Given the description of an element on the screen output the (x, y) to click on. 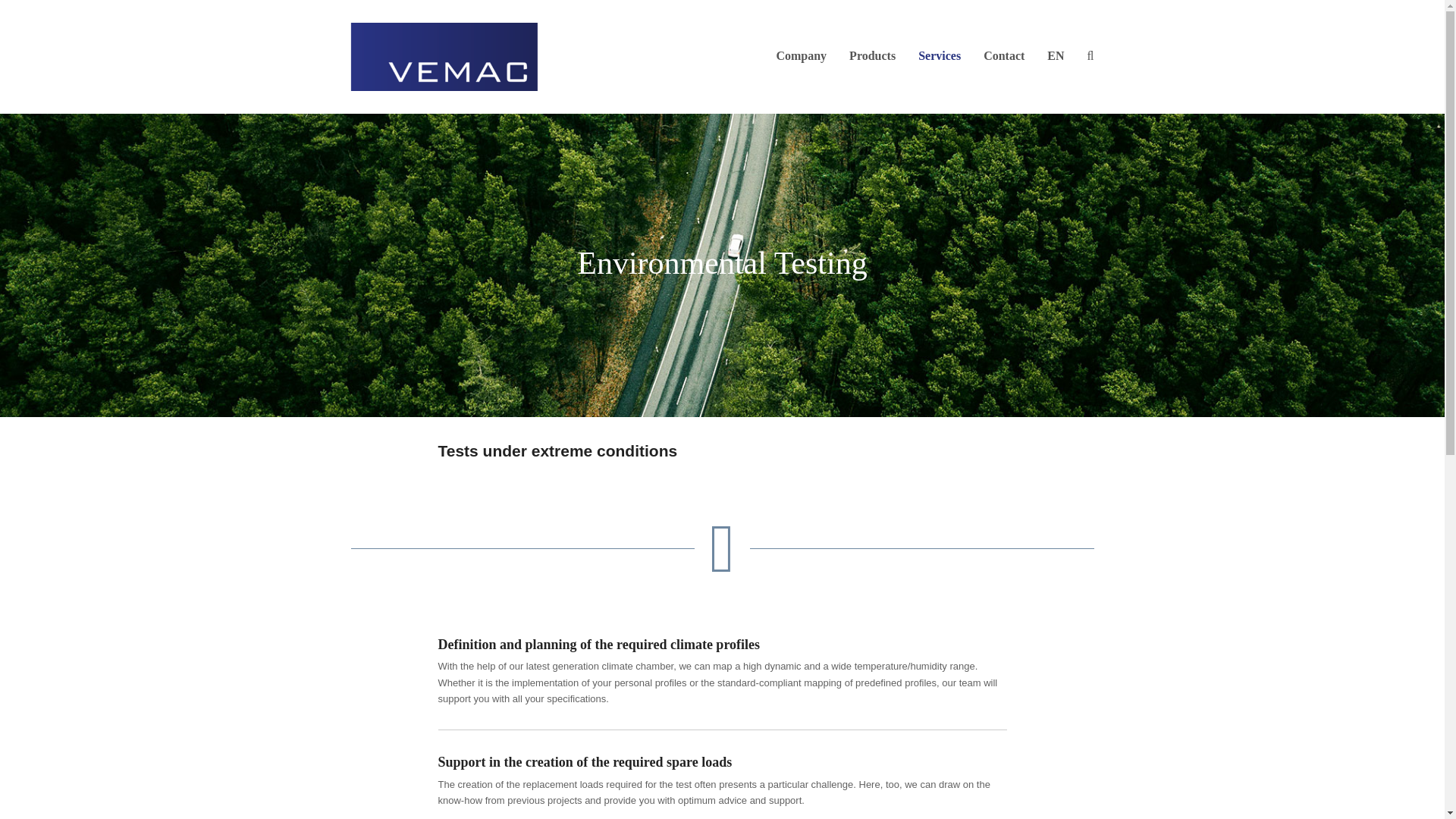
Services (939, 56)
Contact (1003, 56)
EN (1055, 56)
Company (801, 56)
Products (872, 56)
